Given the description of an element on the screen output the (x, y) to click on. 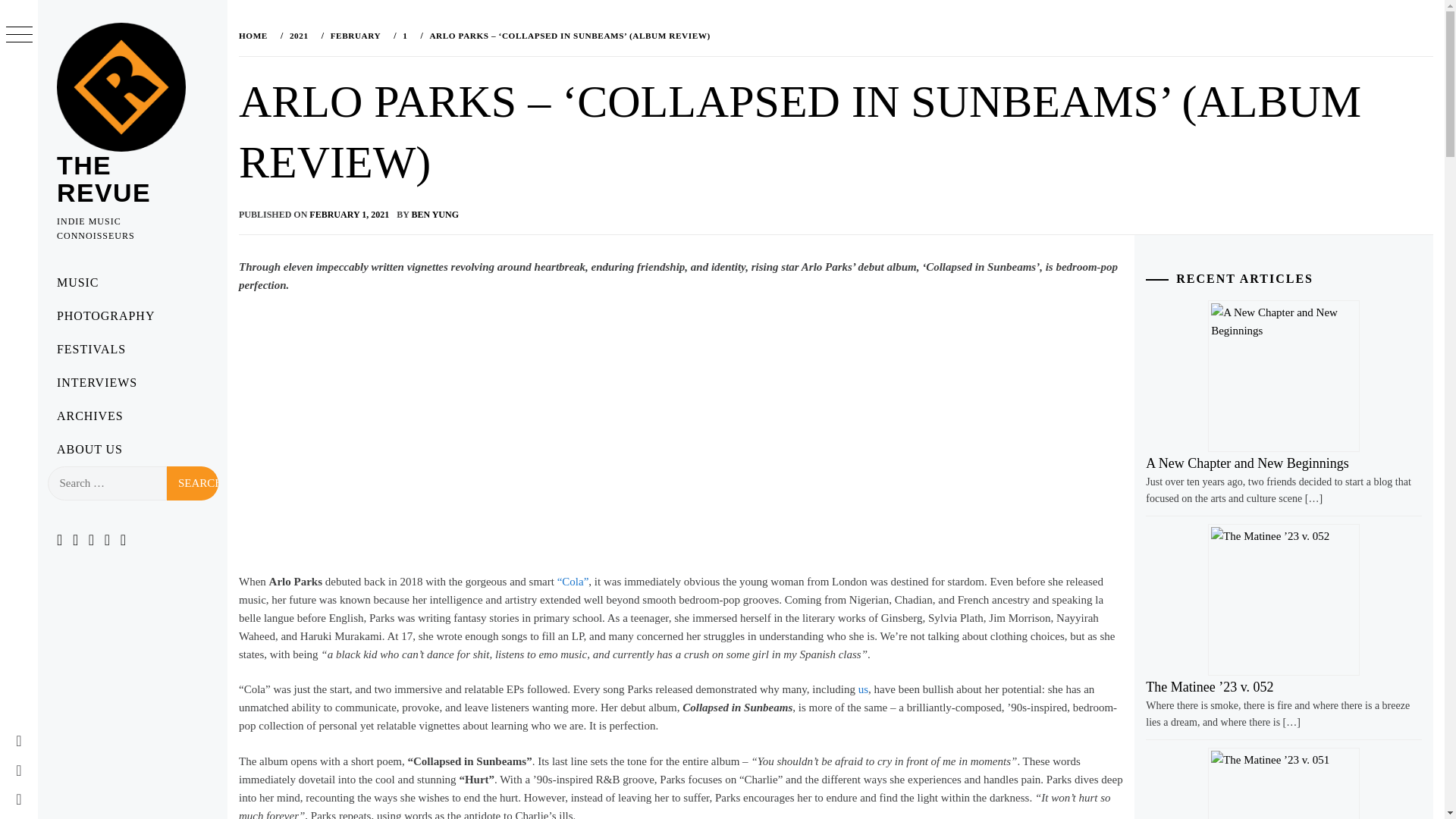
Search (192, 483)
INTERVIEWS (132, 382)
Search (192, 483)
PHOTOGRAPHY (132, 315)
FESTIVALS (132, 349)
THE REVUE (103, 178)
ARCHIVES (132, 416)
Search (192, 483)
MUSIC (132, 282)
ABOUT US (132, 449)
